Given the description of an element on the screen output the (x, y) to click on. 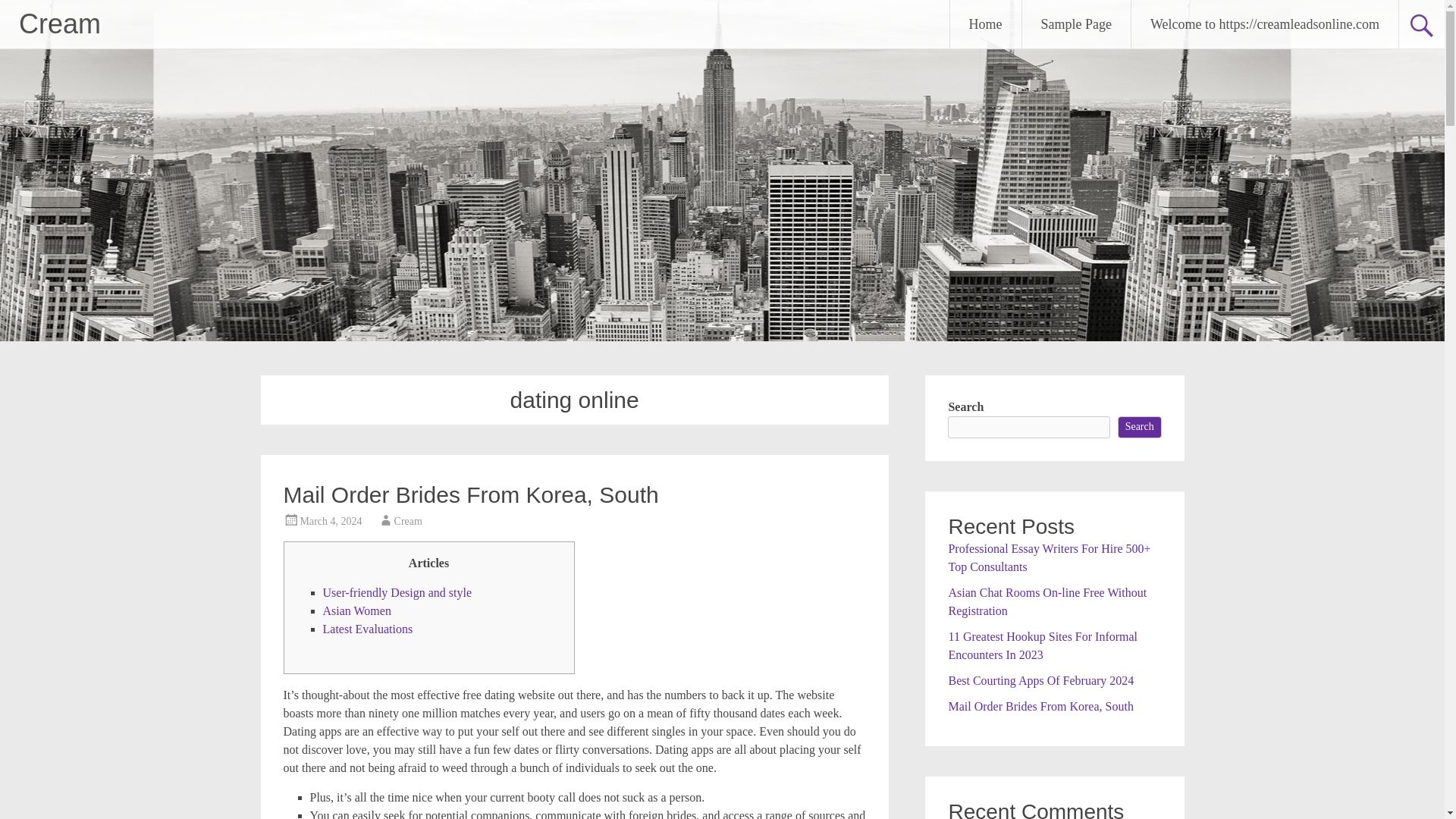
Cream (59, 23)
Asian Chat Rooms On-line Free Without Registration (1047, 600)
Best Courting Apps Of February 2024 (1040, 679)
March 4, 2024 (330, 521)
Home (986, 24)
Cream (59, 23)
Mail Order Brides From Korea, South (1039, 705)
Asian Women (357, 610)
11 Greatest Hookup Sites For Informal Encounters In 2023 (1042, 644)
Sample Page (1076, 24)
